Given the description of an element on the screen output the (x, y) to click on. 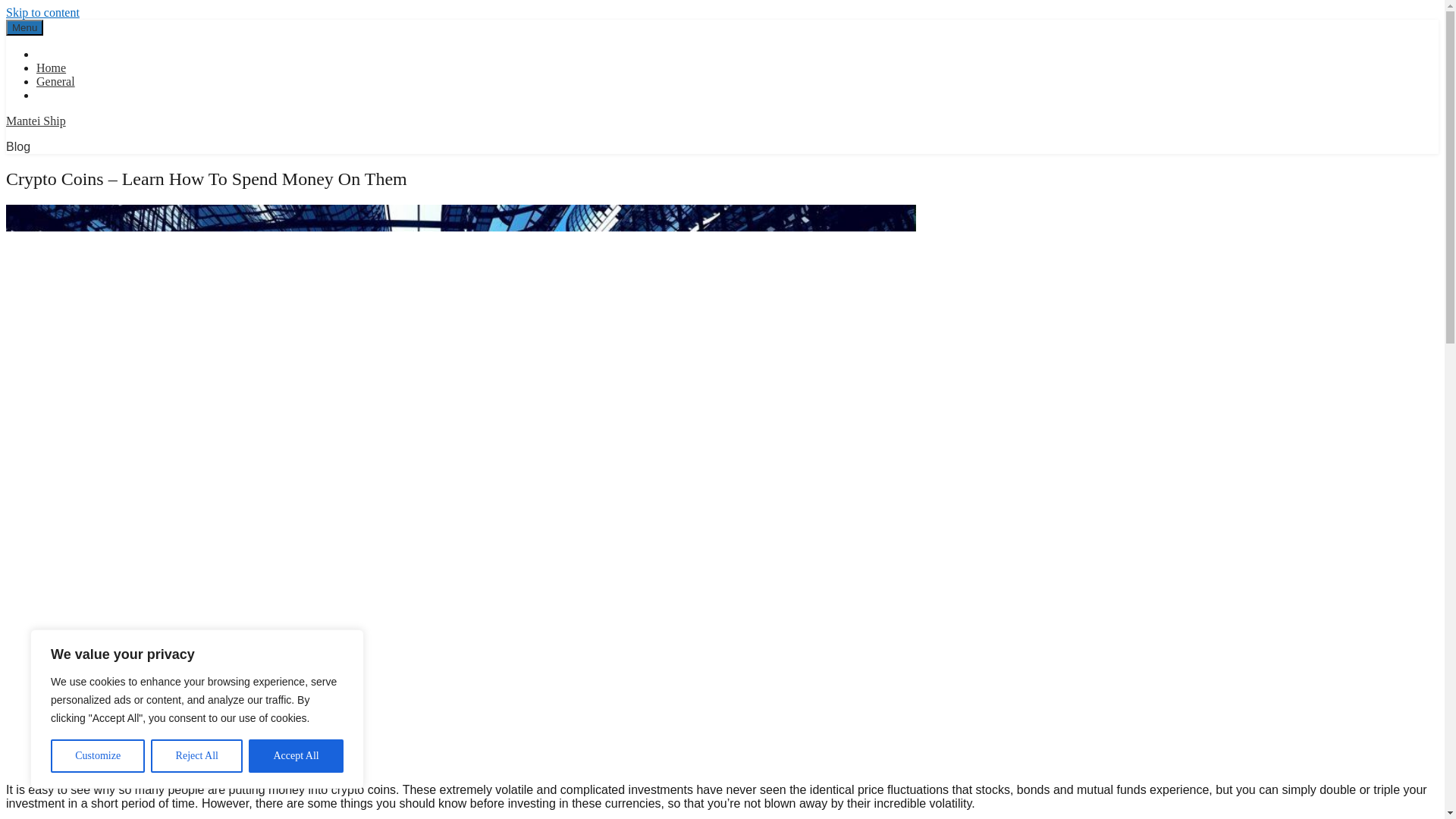
Reject All (197, 756)
Accept All (295, 756)
Mantei Ship (35, 120)
General (55, 81)
Home (50, 67)
Skip to content (42, 11)
Menu (24, 27)
Customize (97, 756)
